Given the description of an element on the screen output the (x, y) to click on. 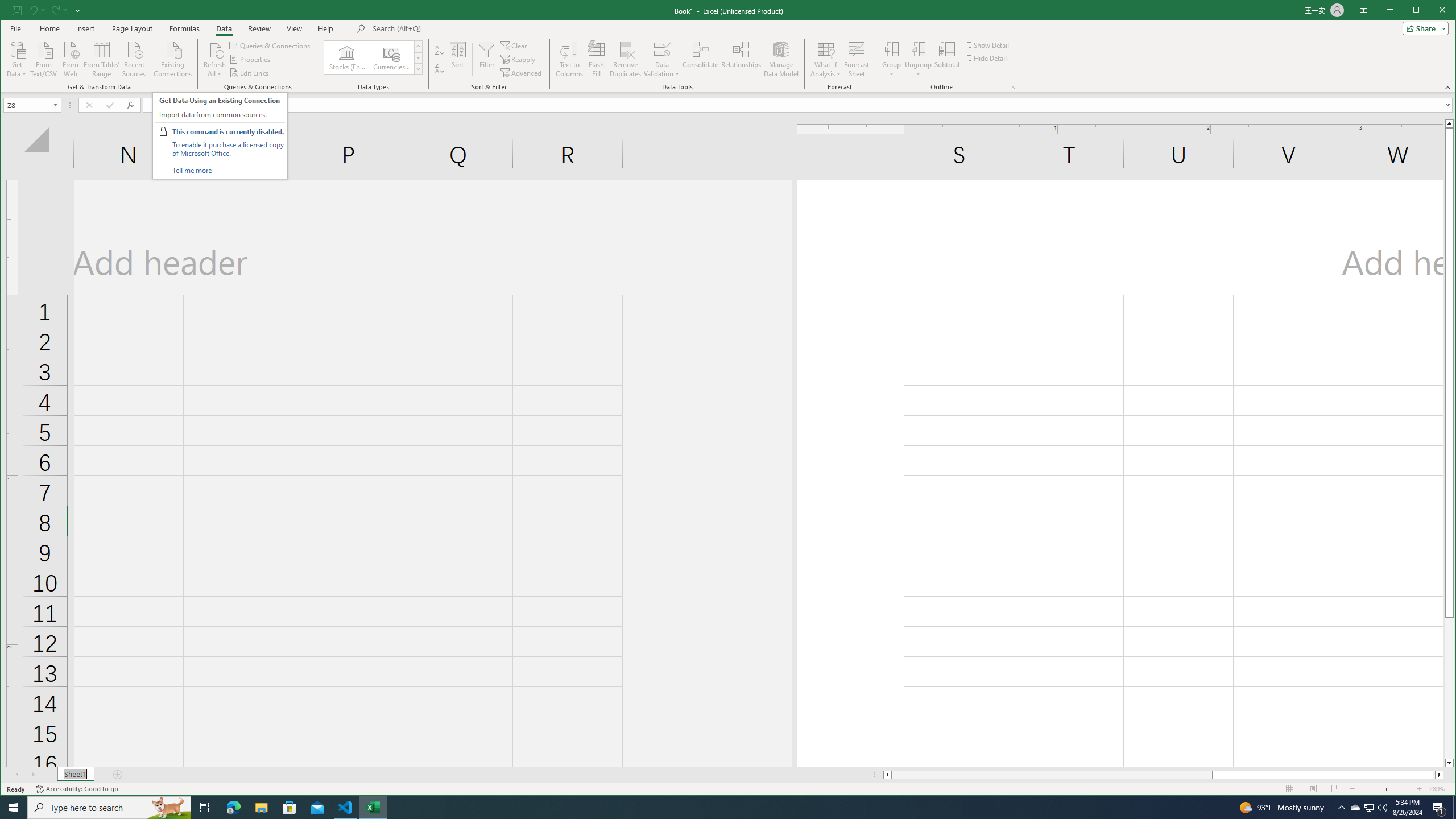
Action Center, 1 new notification (1439, 807)
Sheet Tab (75, 774)
